Given the description of an element on the screen output the (x, y) to click on. 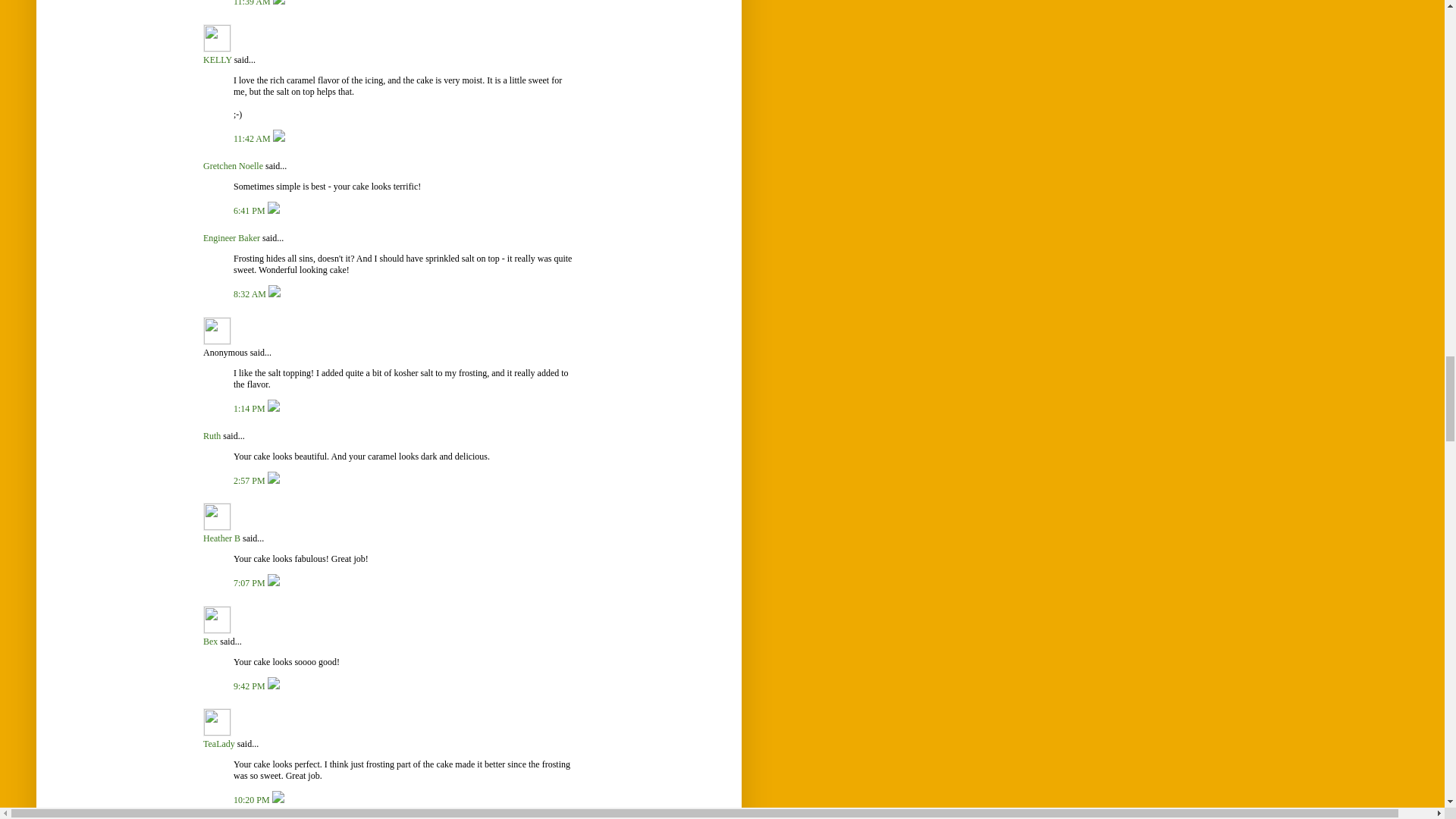
KELLY (217, 38)
Delete Comment (279, 138)
comment permalink (252, 3)
Delete Comment (279, 3)
comment permalink (249, 210)
comment permalink (252, 138)
Delete Comment (274, 294)
comment permalink (249, 294)
6:41 PM (249, 210)
11:42 AM (252, 138)
Gretchen Noelle (233, 165)
KELLY (217, 59)
11:39 AM (252, 3)
Delete Comment (273, 210)
Anonymous (217, 330)
